Given the description of an element on the screen output the (x, y) to click on. 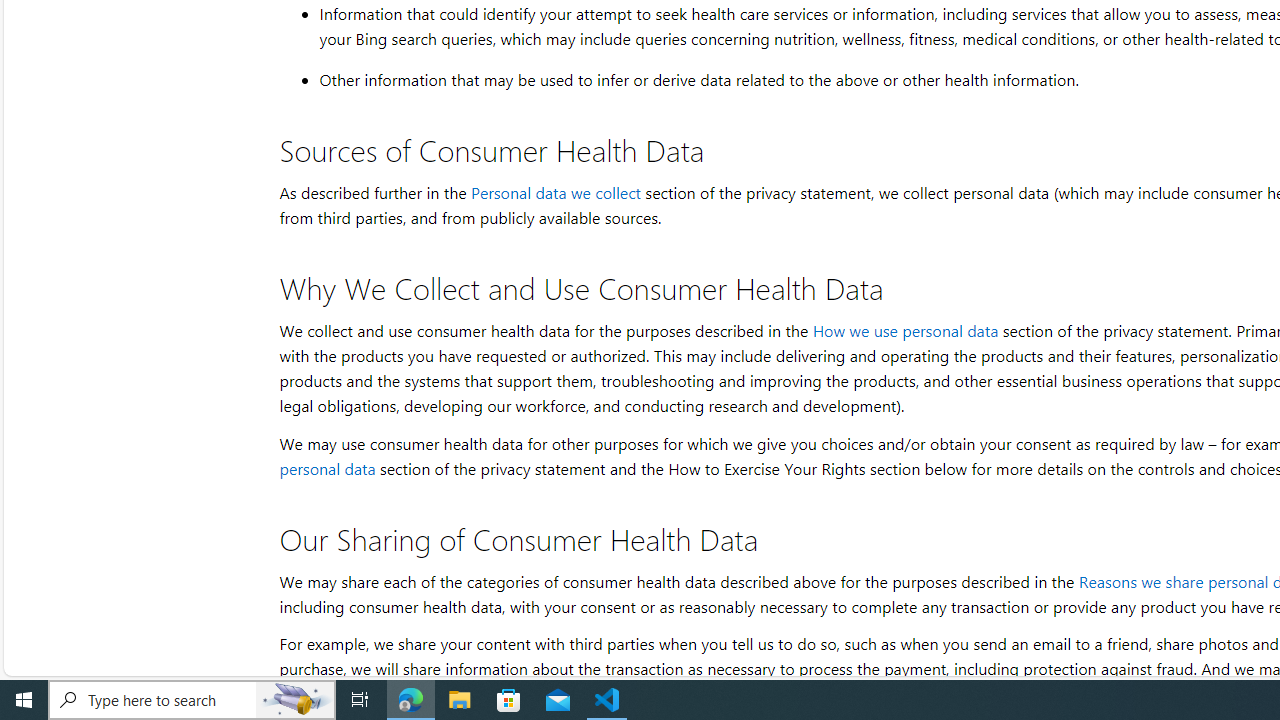
How we use personal data (904, 330)
Personal data we collect (555, 192)
